Given the description of an element on the screen output the (x, y) to click on. 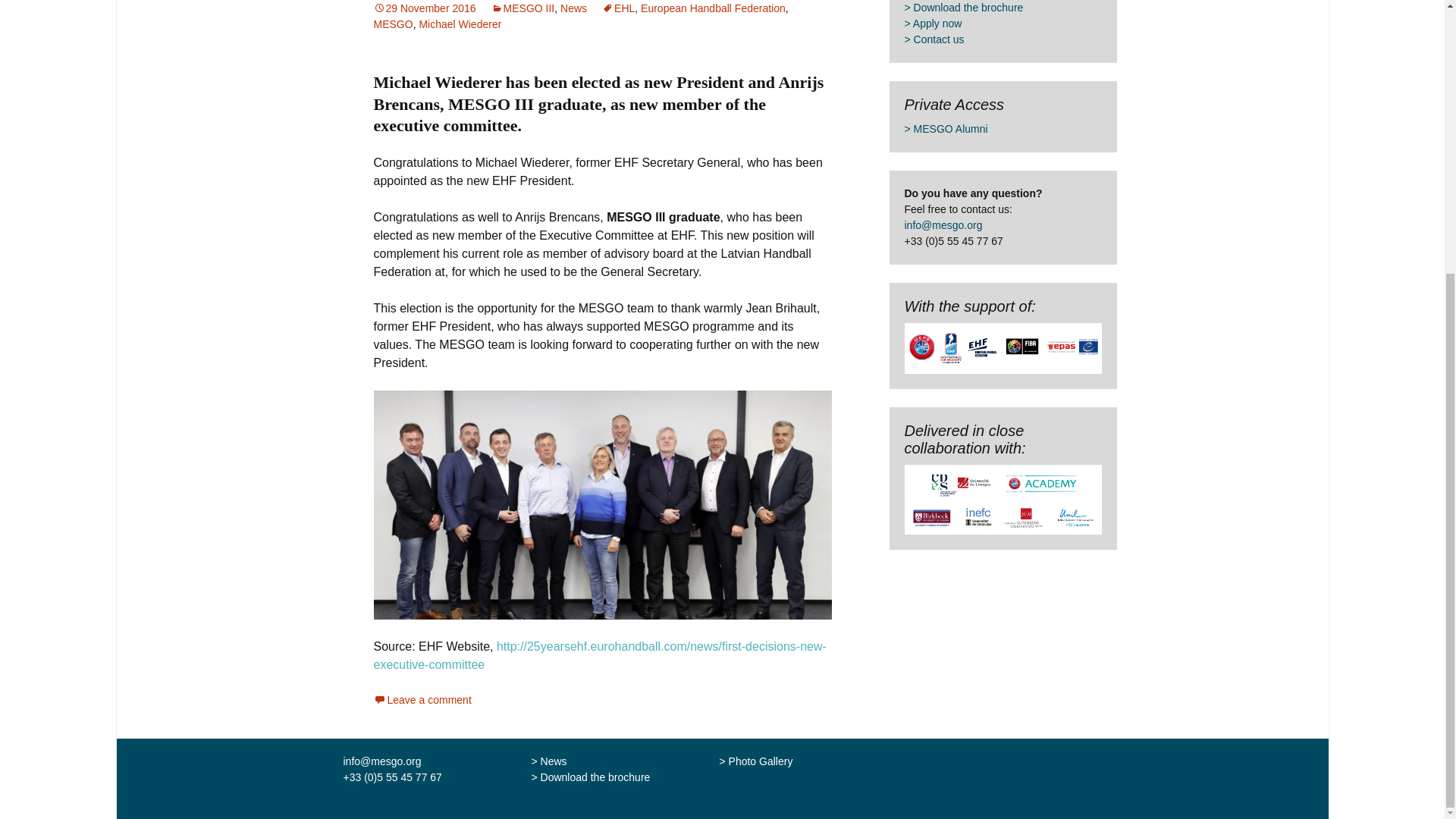
Michael Wiederer (459, 24)
News (573, 8)
EHL (618, 8)
MESGO (392, 24)
European Handball Federation (713, 8)
29 November 2016 (424, 8)
MESGO III (523, 8)
